Given the description of an element on the screen output the (x, y) to click on. 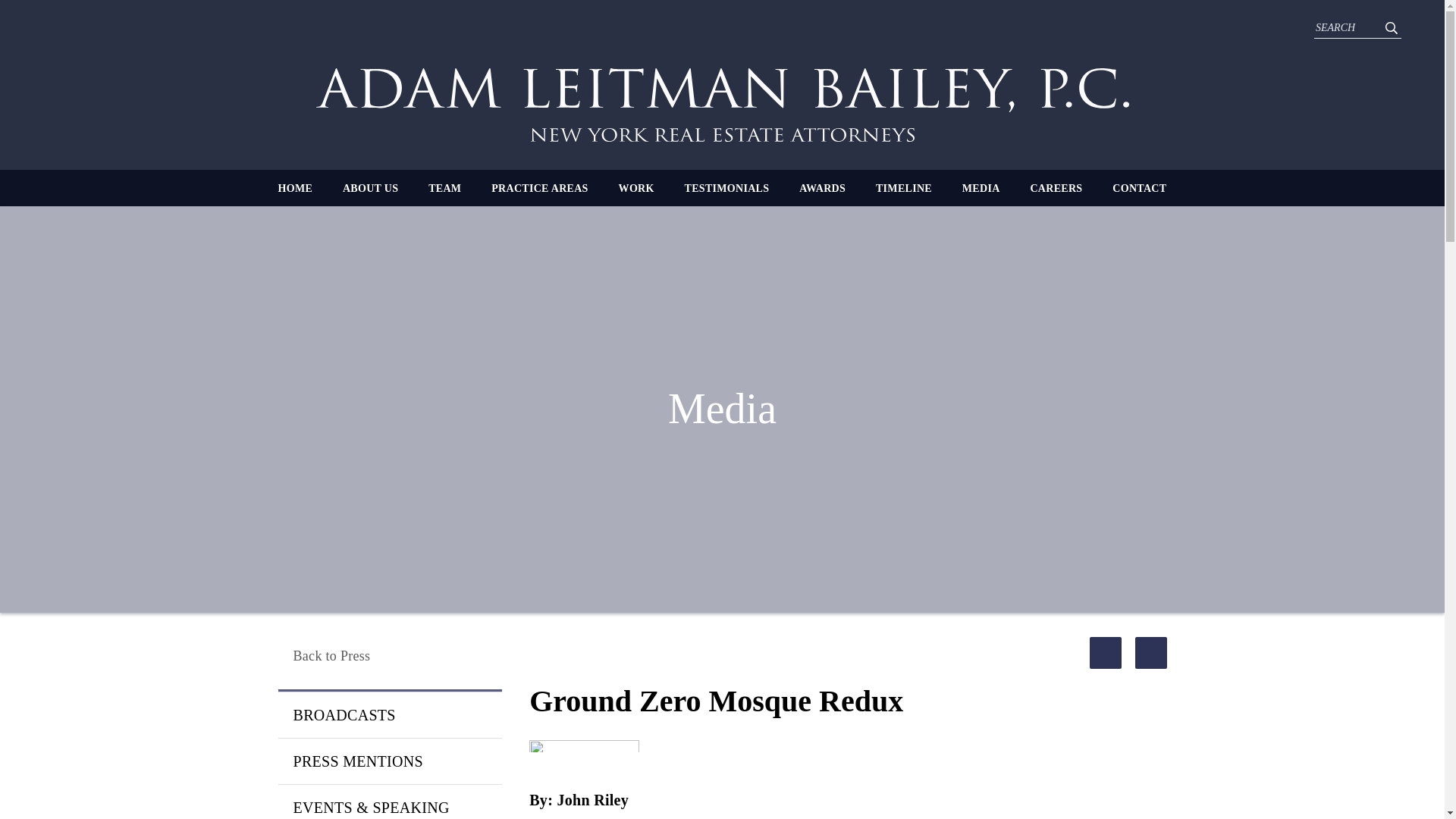
CAREERS (1055, 187)
BROADCASTS (389, 714)
TEAM (444, 187)
WORK (635, 187)
AWARDS (822, 187)
PRACTICE AREAS (540, 187)
TESTIMONIALS (727, 187)
HOME (295, 187)
TIMELINE (903, 187)
Back to Press (389, 656)
